Given the description of an element on the screen output the (x, y) to click on. 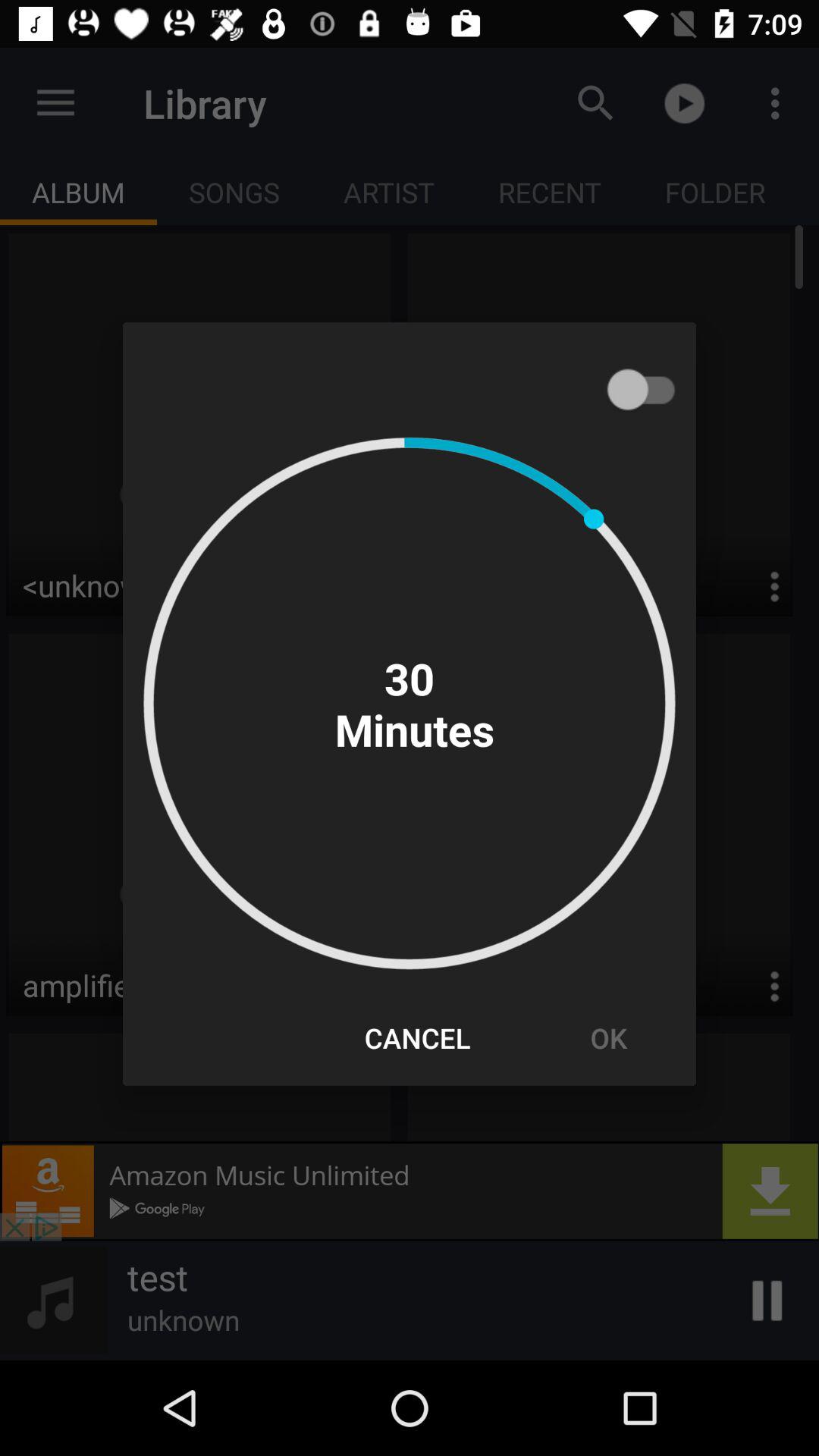
open icon to the right of cancel (608, 1037)
